Given the description of an element on the screen output the (x, y) to click on. 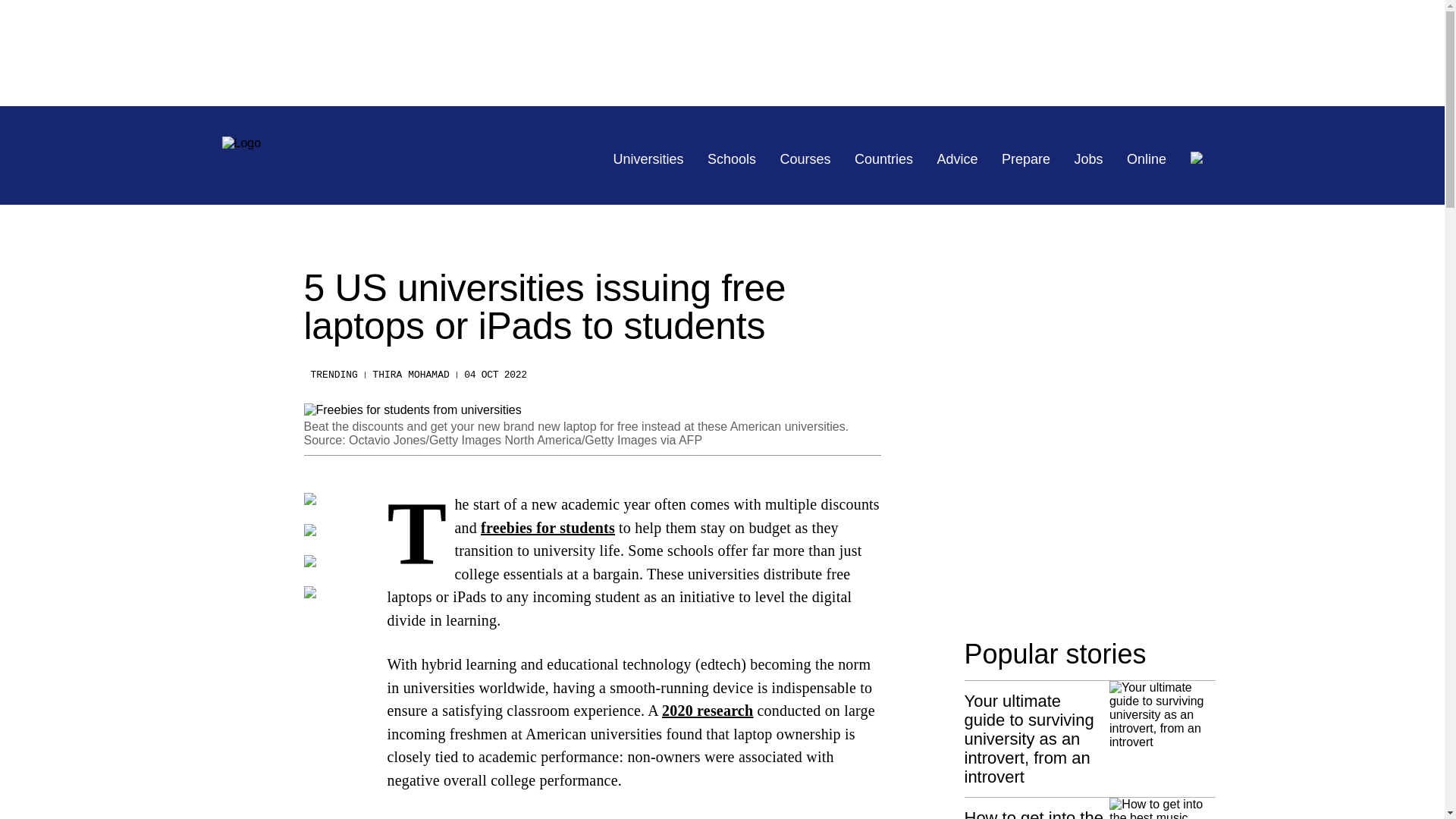
Advice (957, 159)
Jobs (1088, 159)
Schools (731, 159)
Courses (805, 159)
Universities (648, 159)
Online (1146, 159)
Countries (883, 159)
Prepare (1025, 159)
